Given the description of an element on the screen output the (x, y) to click on. 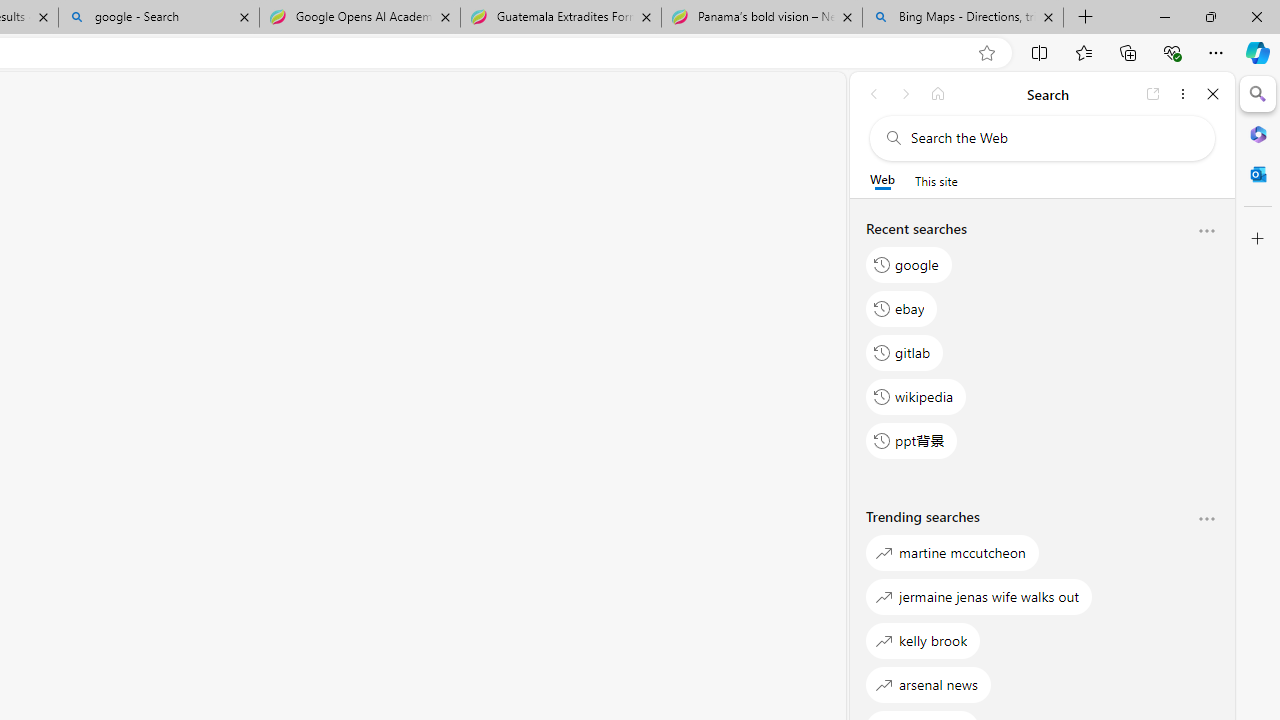
google (909, 264)
arsenal news (928, 684)
jermaine jenas wife walks out (979, 596)
